Given the description of an element on the screen output the (x, y) to click on. 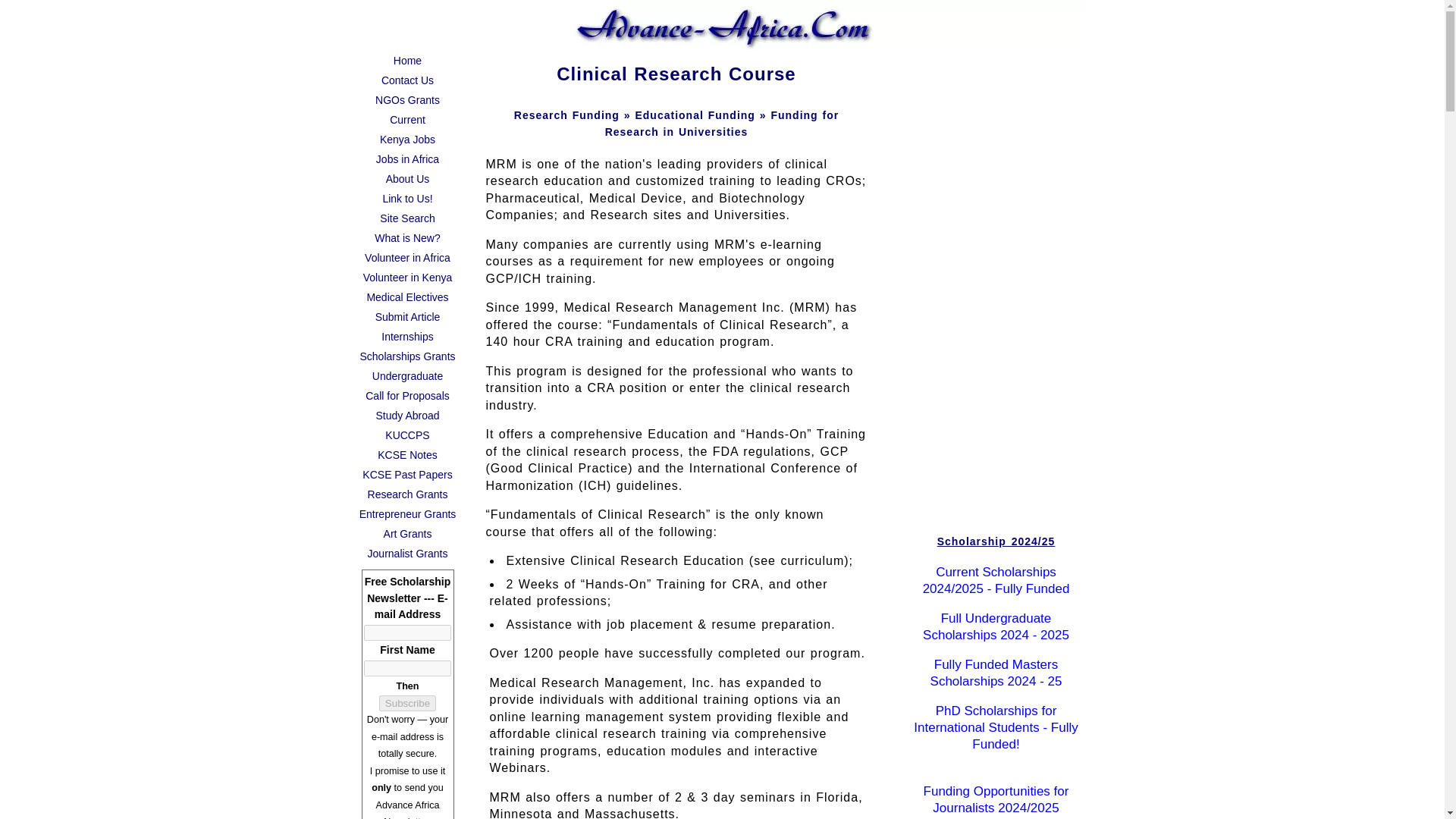
Jobs in Africa (407, 158)
About Us (407, 178)
What is New? (407, 238)
Entrepreneur Grants (407, 514)
NGOs Grants (407, 99)
Art Grants (407, 533)
Research Grants (407, 494)
Study Abroad (407, 415)
Journalist Grants (407, 553)
Home (407, 60)
